Given the description of an element on the screen output the (x, y) to click on. 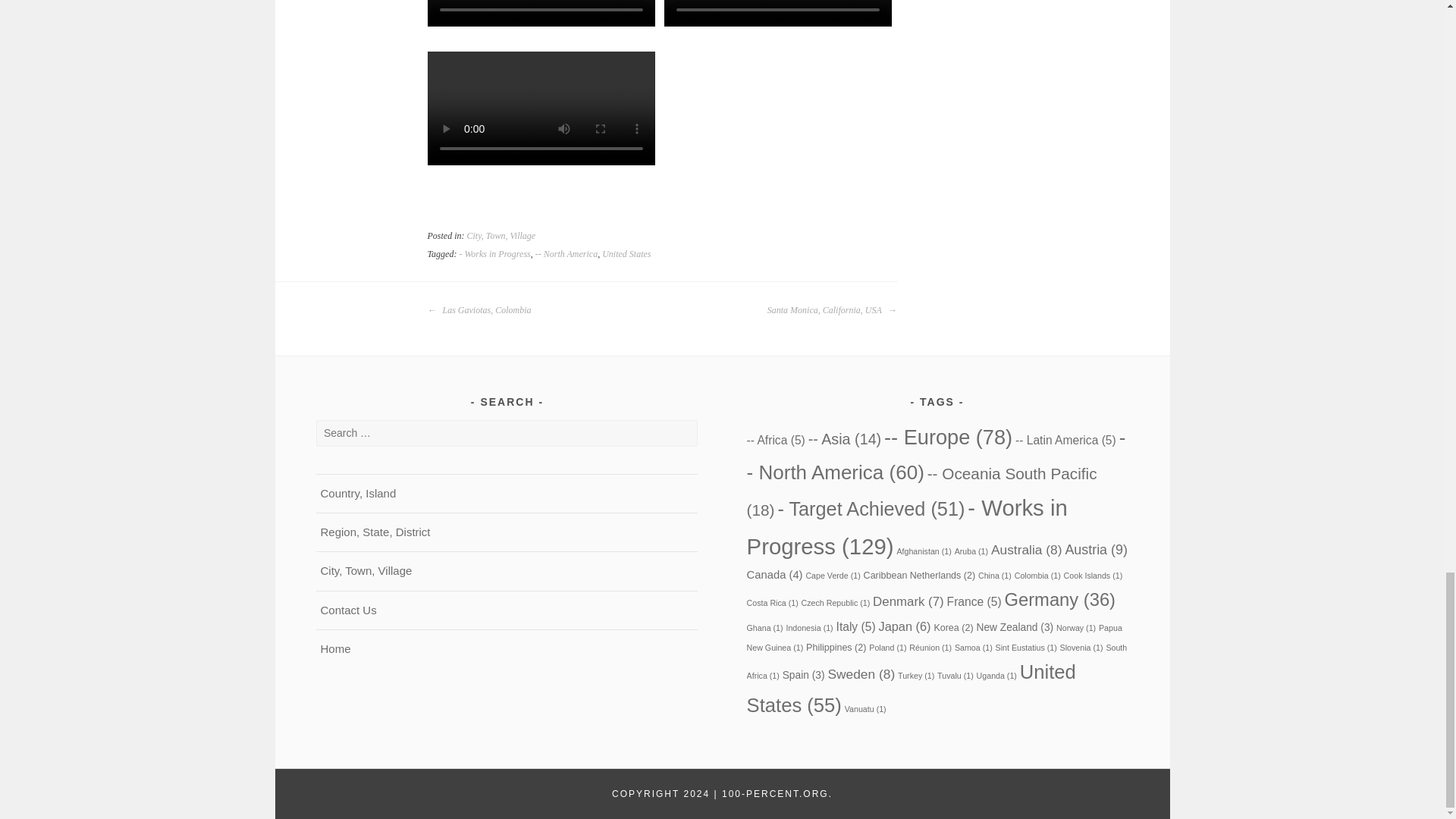
United States (626, 253)
Santa Monica, California, USA  (831, 310)
City, Town, Village (501, 235)
A Semantic Personal Publishing Platform (660, 793)
-- North America (565, 253)
- Works in Progress (493, 253)
City, Town, Village (366, 570)
Country, Island (358, 492)
 Las Gaviotas, Colombia (479, 310)
Contact Us (347, 609)
